Given the description of an element on the screen output the (x, y) to click on. 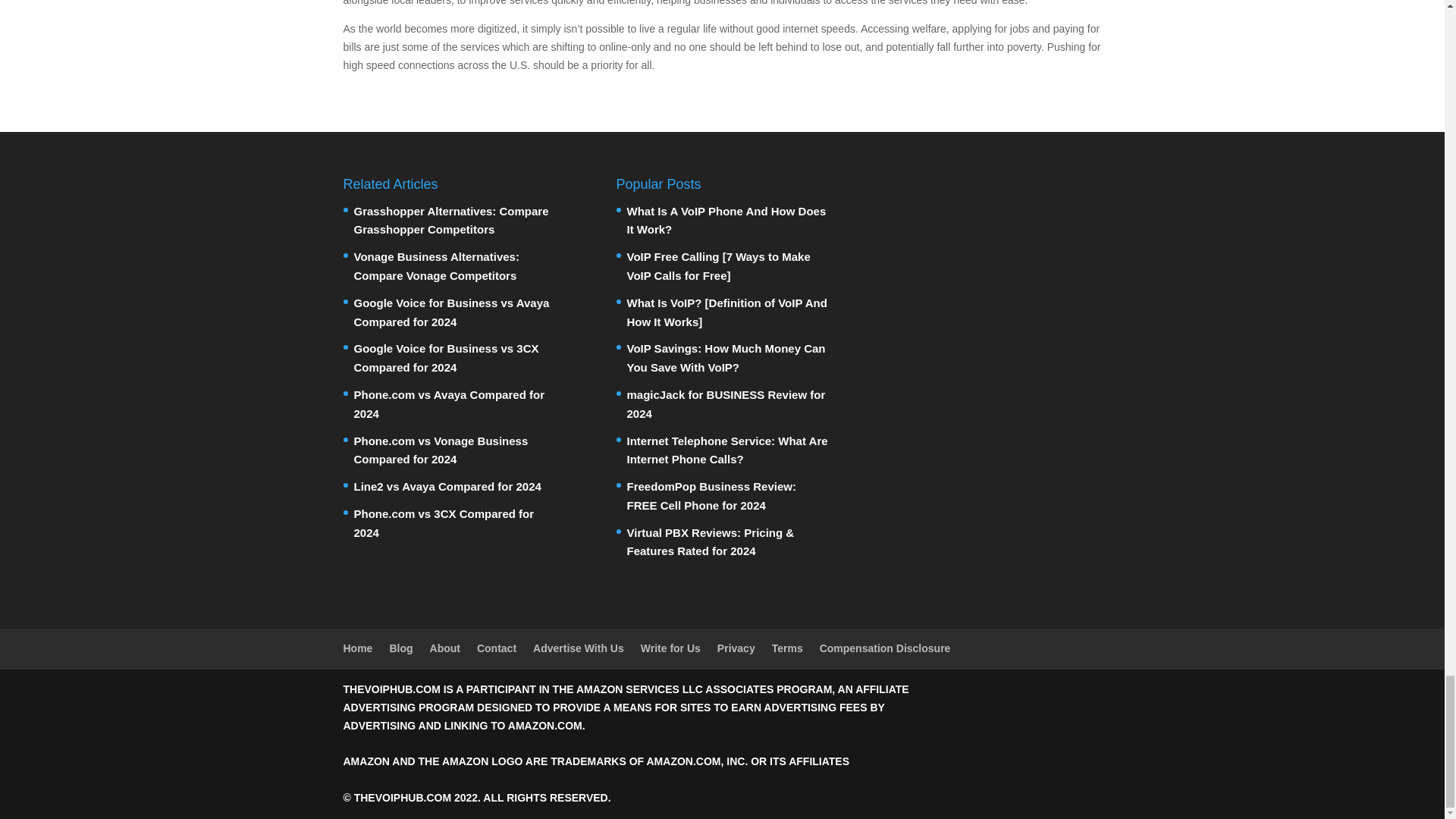
Google Voice for Business vs Avaya Compared for 2024 (450, 312)
Grasshopper Alternatives: Compare Grasshopper Competitors (450, 220)
Google Voice for Business vs 3CX Compared for 2024 (445, 357)
Phone.com vs Vonage Business Compared for 2024 (440, 450)
Line2 vs Avaya Compared for 2024 (446, 486)
Internet Telephone Service: What Are Internet Phone Calls? (726, 450)
Phone.com vs 3CX Compared for 2024 (443, 522)
What Is A VoIP Phone And How Does It Work? (725, 220)
VoIP Savings: How Much Money Can You Save With VoIP? (725, 357)
Phone.com vs Avaya Compared for 2024 (448, 404)
magicJack for BUSINESS Review for 2024 (725, 404)
Vonage Business Alternatives: Compare Vonage Competitors (435, 265)
